Given the description of an element on the screen output the (x, y) to click on. 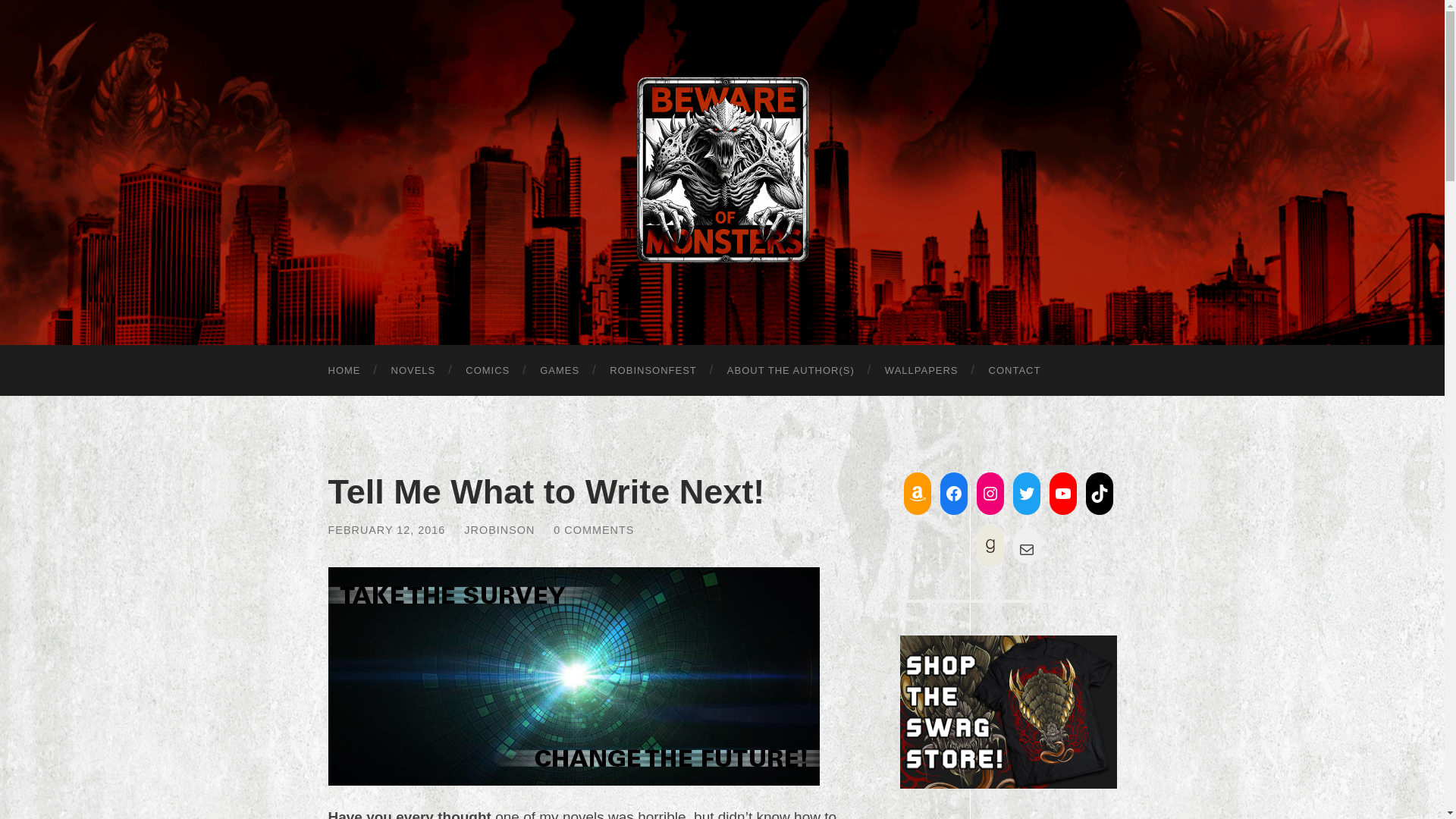
CONTACT (1015, 369)
Amazon (917, 492)
NOVELS (413, 369)
Beware of Monsters (721, 170)
JROBINSON (499, 530)
HOME (344, 369)
COMICS (486, 369)
0 COMMENTS (593, 530)
FEBRUARY 12, 2016 (386, 530)
